Given the description of an element on the screen output the (x, y) to click on. 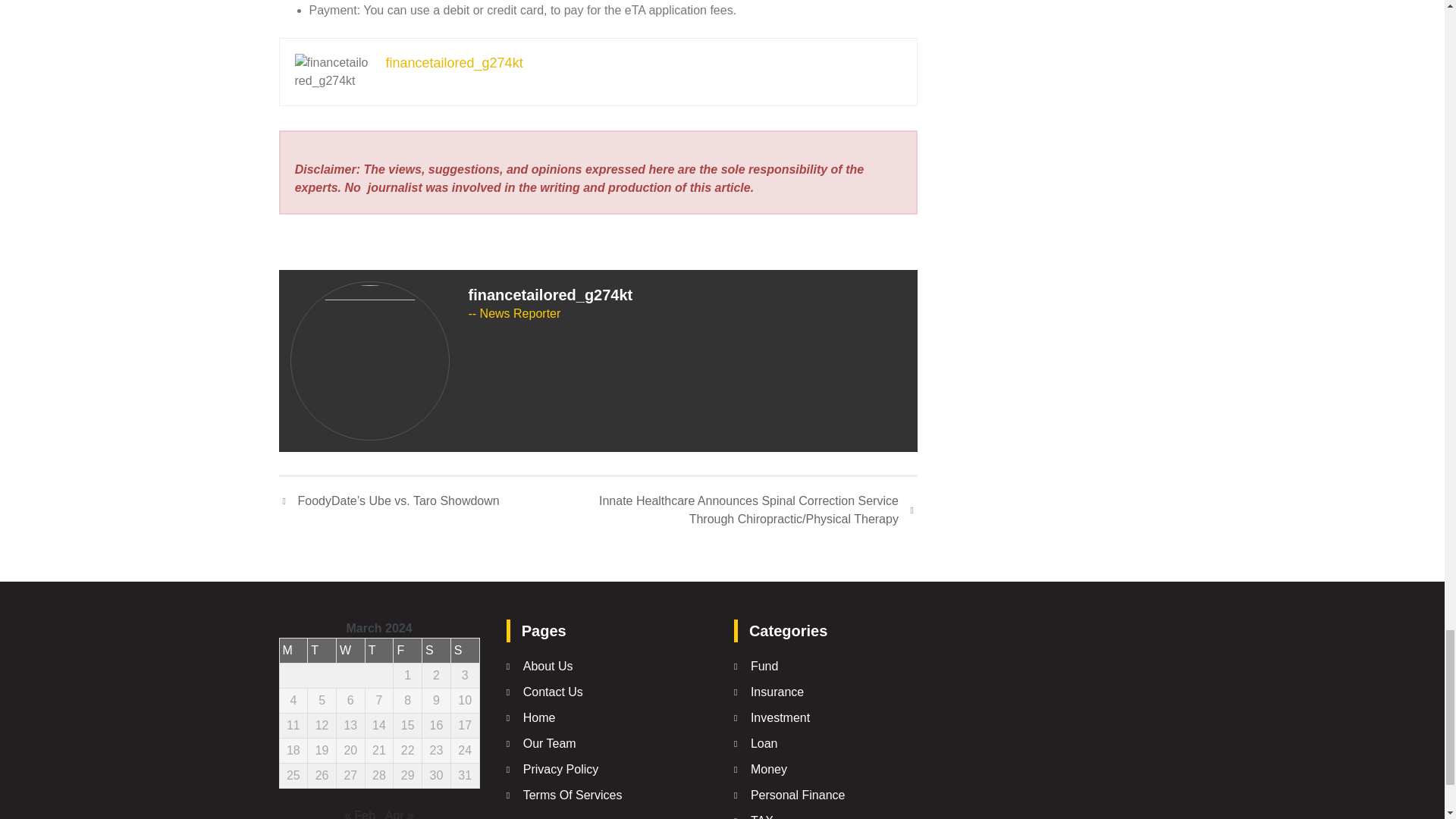
Wednesday (350, 650)
Saturday (436, 650)
Thursday (379, 650)
Tuesday (321, 650)
Friday (407, 650)
Sunday (464, 650)
Monday (293, 650)
